Given the description of an element on the screen output the (x, y) to click on. 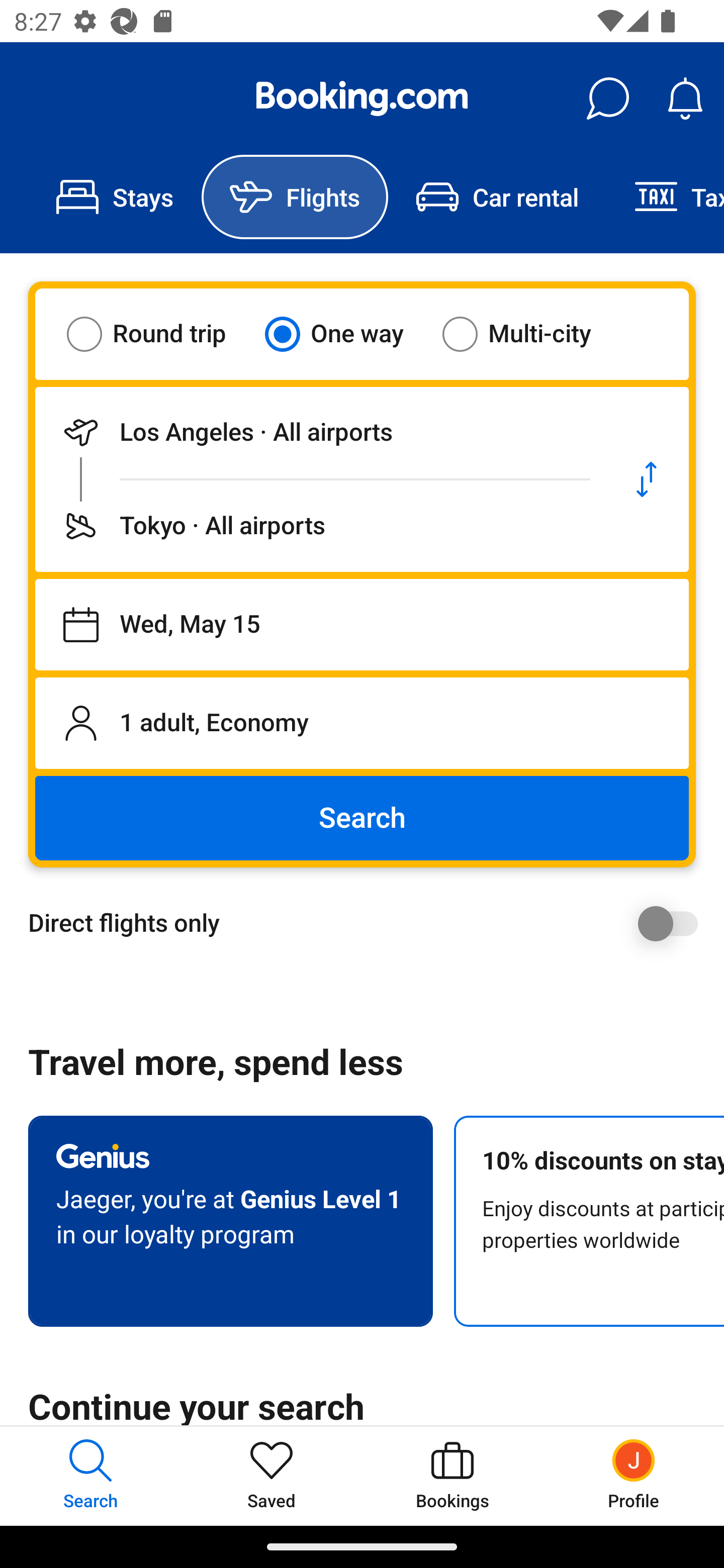
Messages (607, 98)
Notifications (685, 98)
Stays (114, 197)
Flights (294, 197)
Car rental (497, 197)
Taxi (665, 197)
Round trip (158, 333)
Multi-city (528, 333)
Departing from Los Angeles · All airports (319, 432)
Swap departure location and destination (646, 479)
Flying to Tokyo · All airports (319, 525)
Departing on Wed, May 15 (361, 624)
1 adult, Economy (361, 722)
Search (361, 818)
Direct flights only (369, 923)
Saved (271, 1475)
Bookings (452, 1475)
Profile (633, 1475)
